Given the description of an element on the screen output the (x, y) to click on. 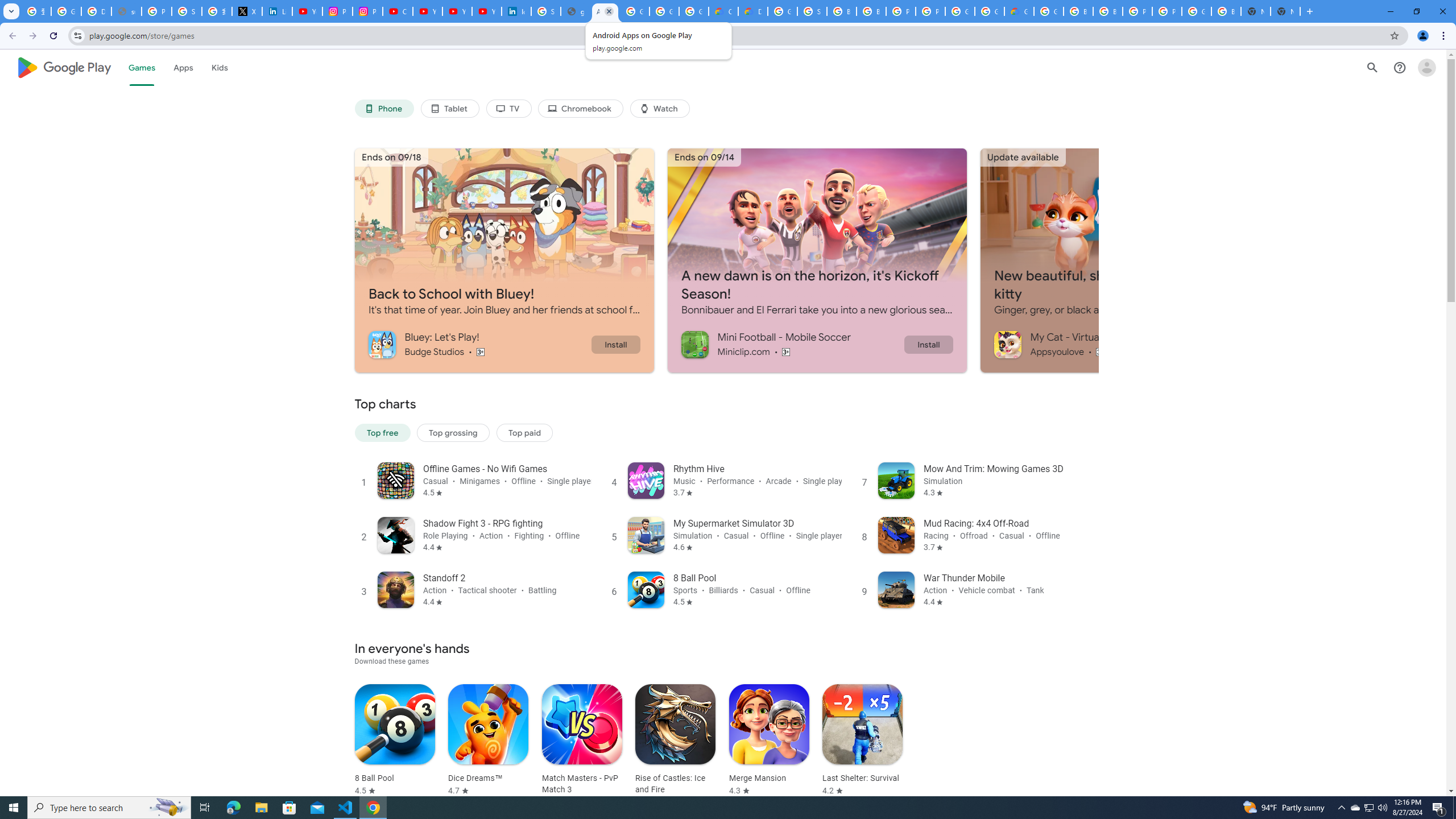
Watch (660, 108)
Sign in - Google Accounts (811, 11)
Merge Mansion Rated 4.3 stars out of five stars (768, 739)
Google Cloud Platform (1196, 11)
Tablet (449, 108)
